Given the description of an element on the screen output the (x, y) to click on. 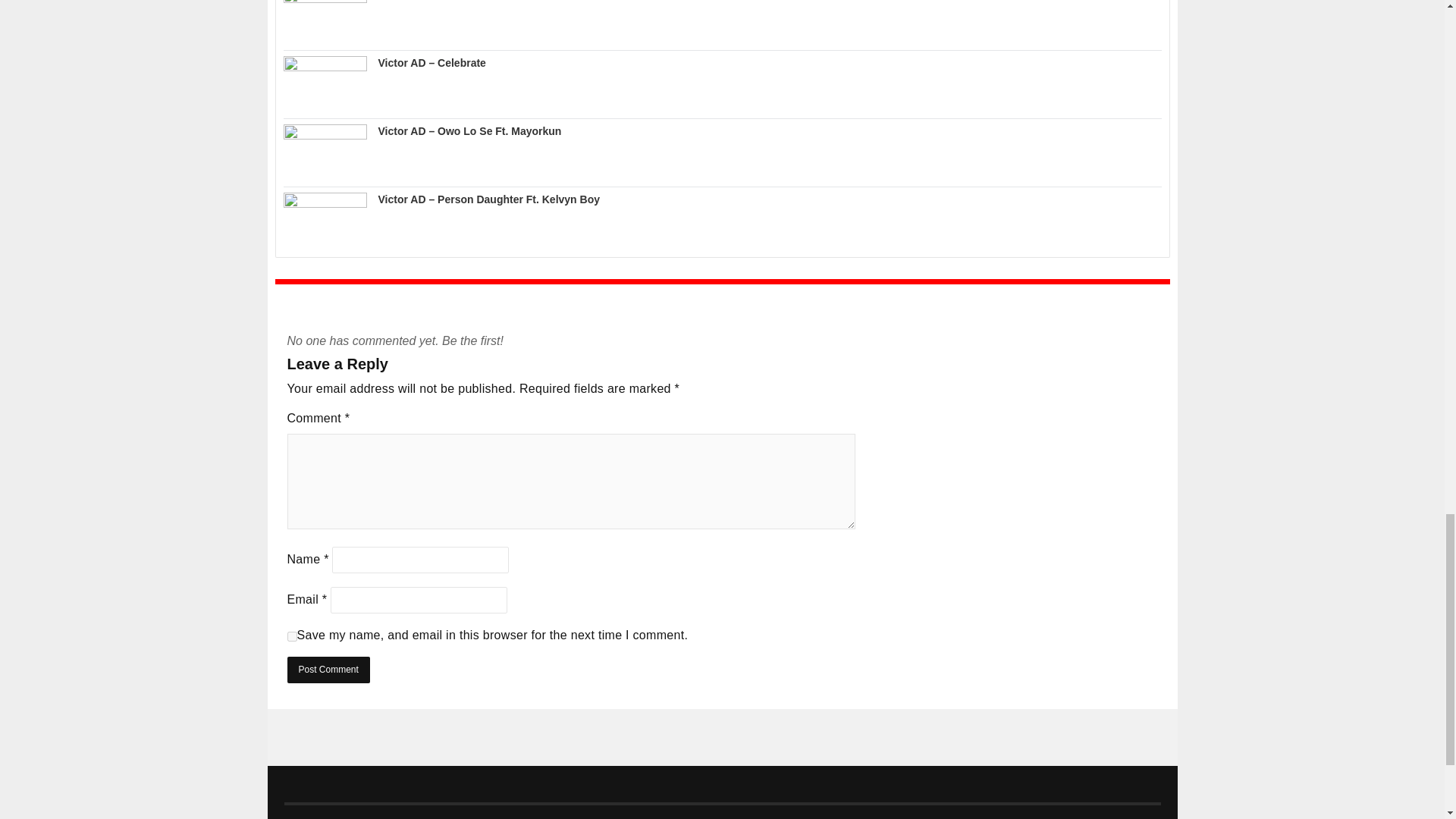
Post Comment (327, 669)
yes (291, 636)
